Given the description of an element on the screen output the (x, y) to click on. 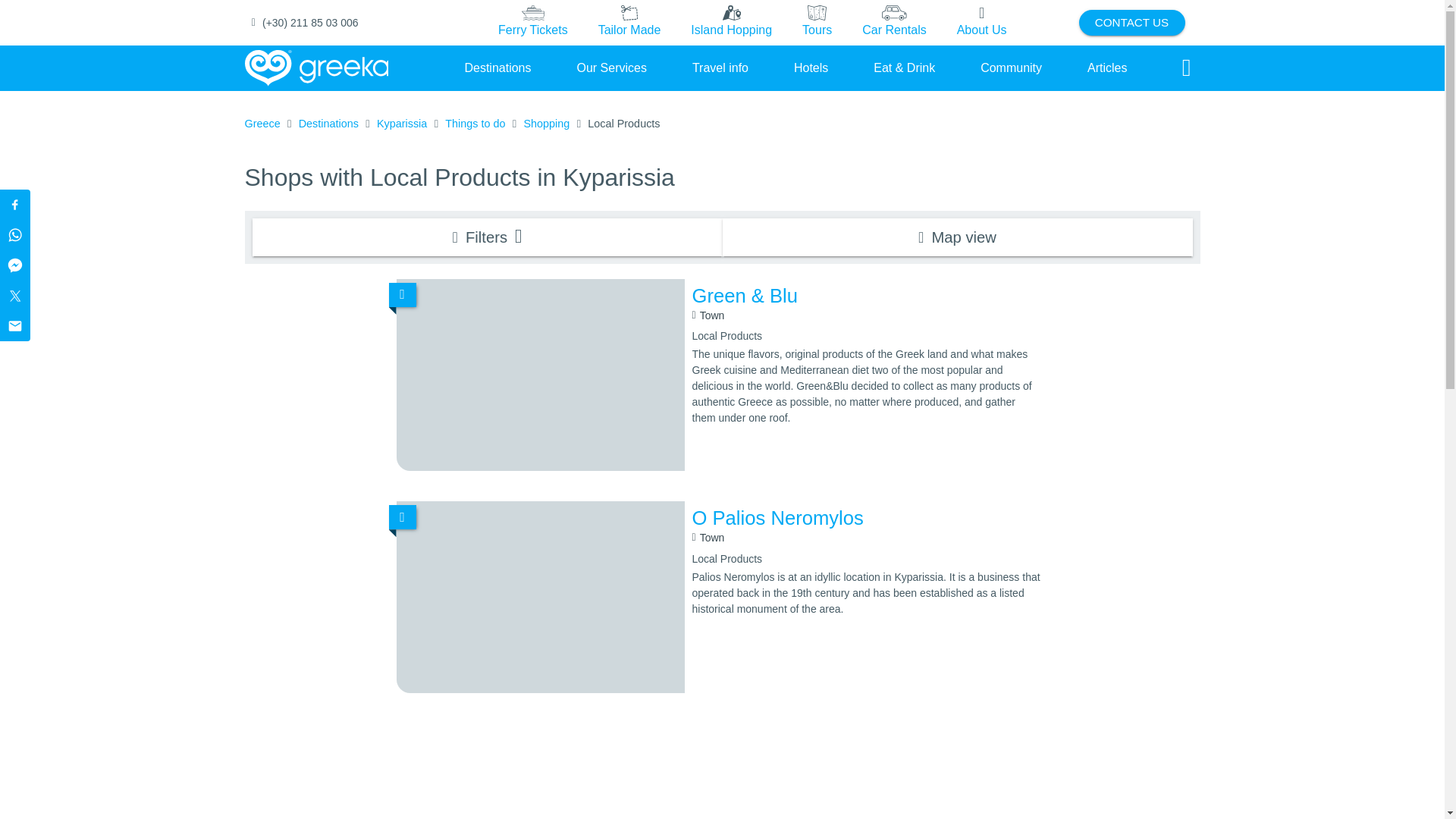
Island Hopping (730, 22)
About Us (982, 22)
Local Products (623, 123)
Ferry Tickets (532, 22)
Travel info (720, 67)
Kyparissia (401, 123)
Our Services (611, 67)
Shopping (545, 123)
Community (1010, 67)
Tailor made services (630, 22)
Tailor Made (629, 22)
Contact us (1131, 22)
CONTACT US (1131, 22)
O Palios Neromylos (866, 518)
Hotels (810, 67)
